Given the description of an element on the screen output the (x, y) to click on. 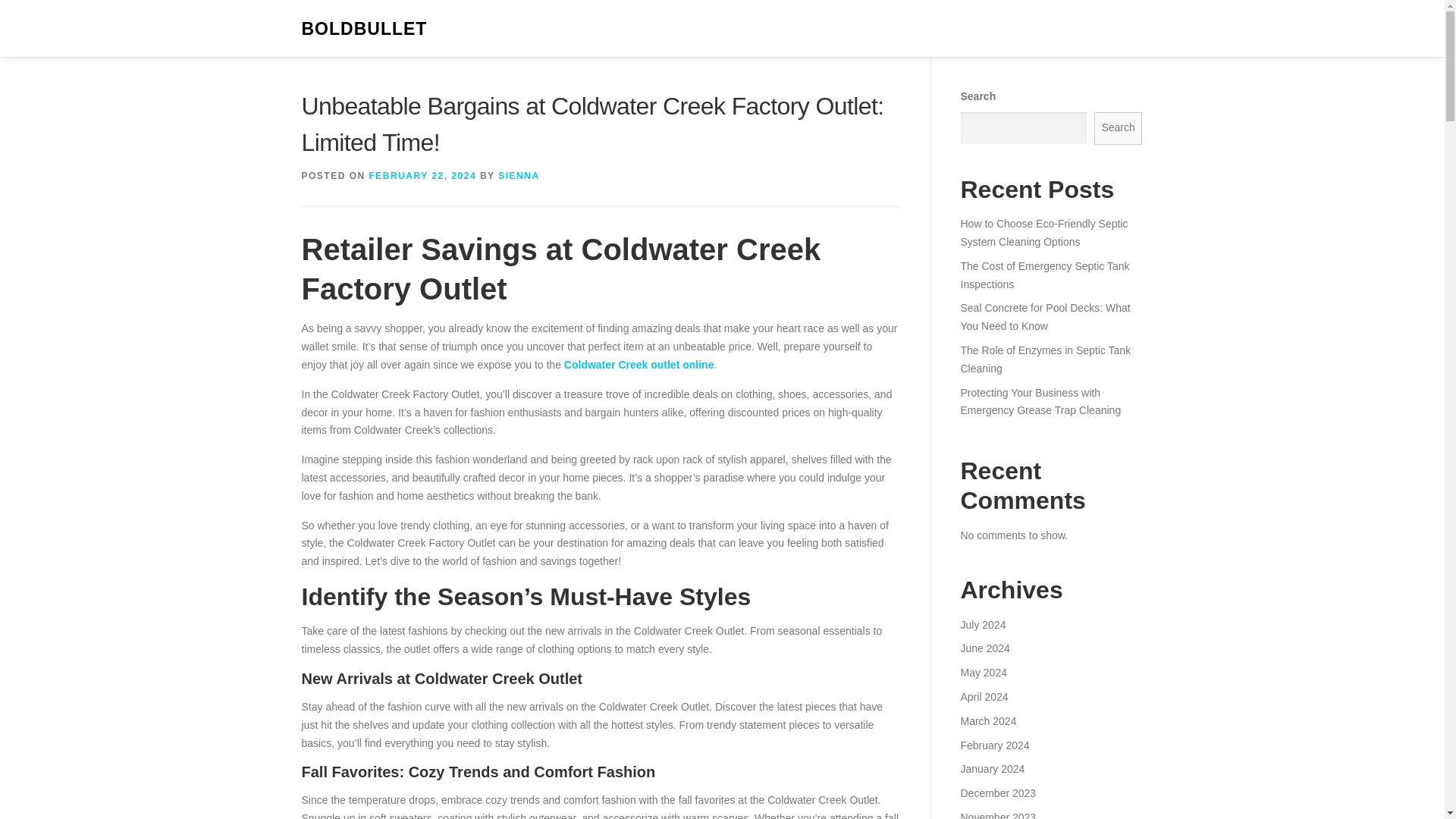
February 2024 (994, 744)
January 2024 (992, 768)
The Role of Enzymes in Septic Tank Cleaning (1045, 358)
Coldwater Creek outlet online (639, 364)
Seal Concrete for Pool Decks: What You Need to Know (1044, 317)
June 2024 (984, 648)
April 2024 (983, 696)
December 2023 (997, 793)
Search (1118, 128)
Protecting Your Business with Emergency Grease Trap Cleaning (1040, 401)
March 2024 (987, 720)
SIENNA (517, 175)
The Cost of Emergency Septic Tank Inspections (1044, 275)
BOLDBULLET (364, 29)
May 2024 (982, 672)
